Given the description of an element on the screen output the (x, y) to click on. 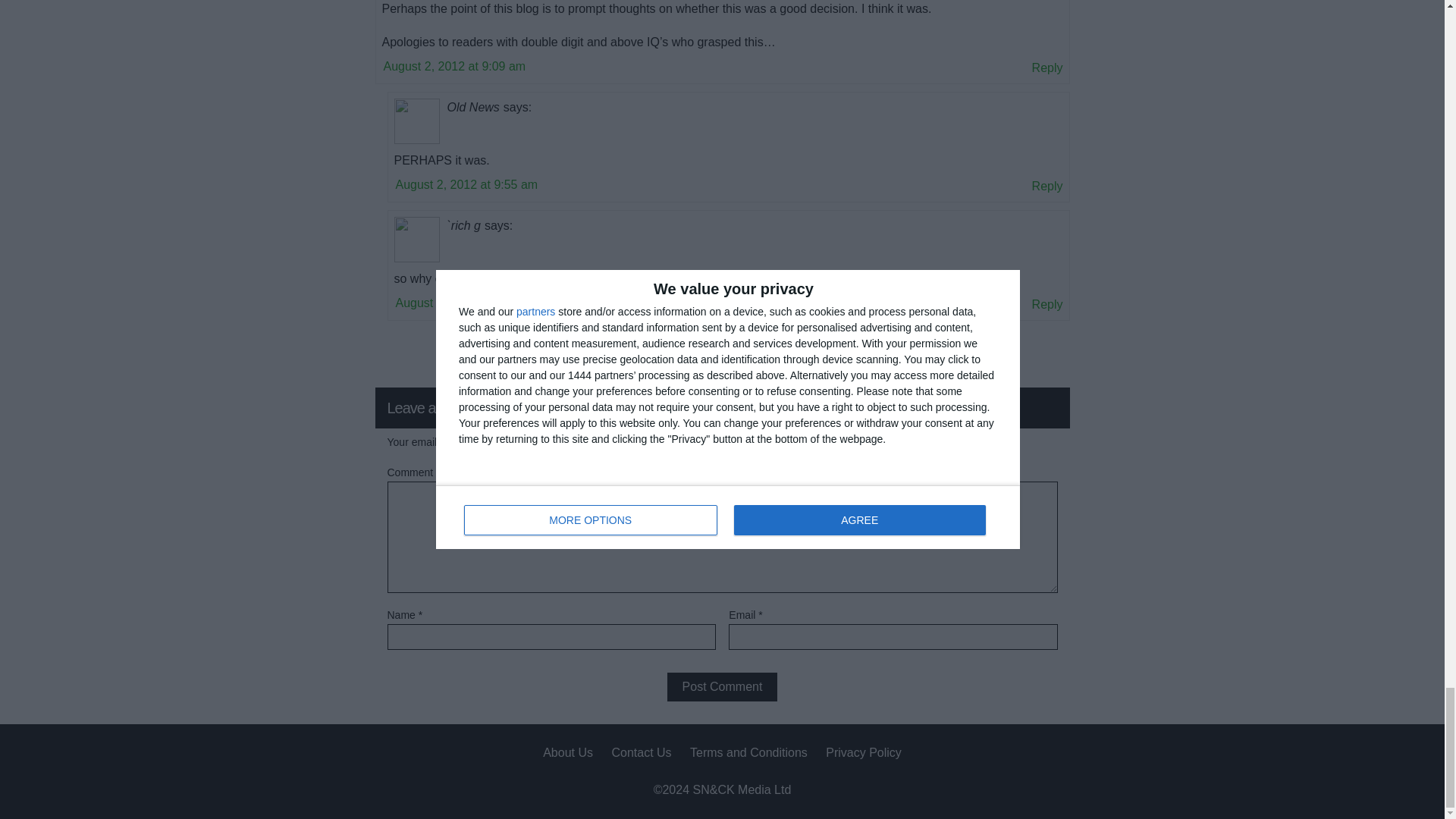
Post Comment (721, 686)
